Given the description of an element on the screen output the (x, y) to click on. 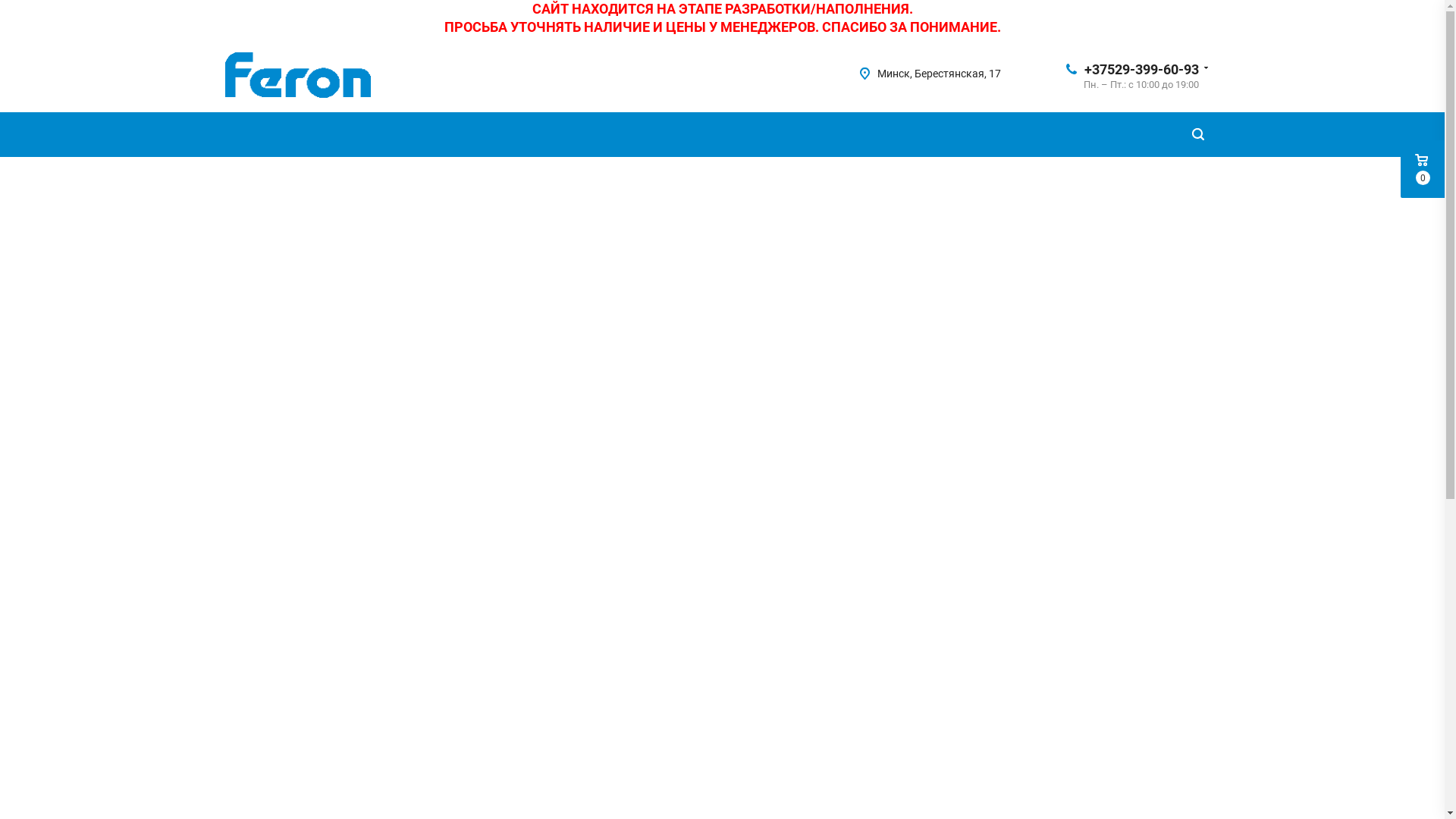
+37529-399-60-93 Element type: text (1141, 68)
